Given the description of an element on the screen output the (x, y) to click on. 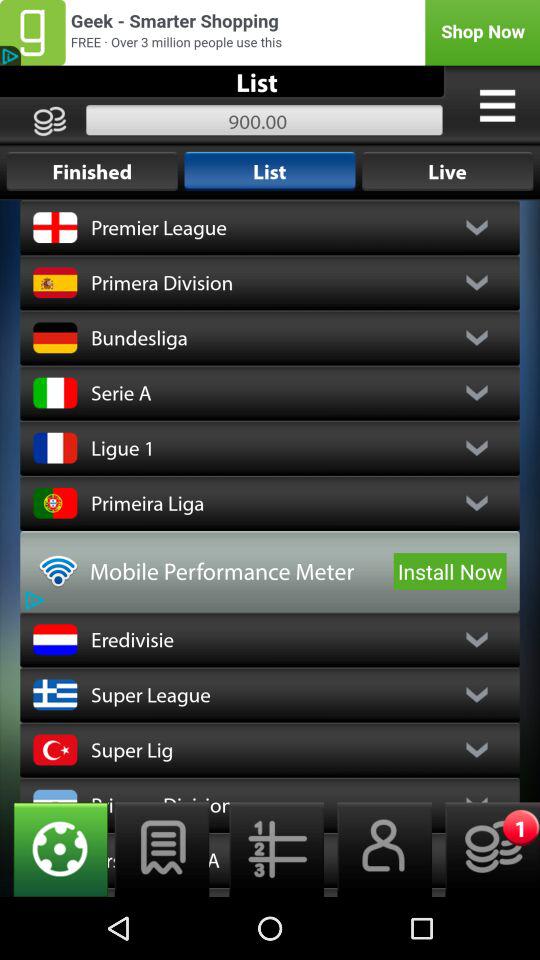
advertising banner (270, 32)
